Given the description of an element on the screen output the (x, y) to click on. 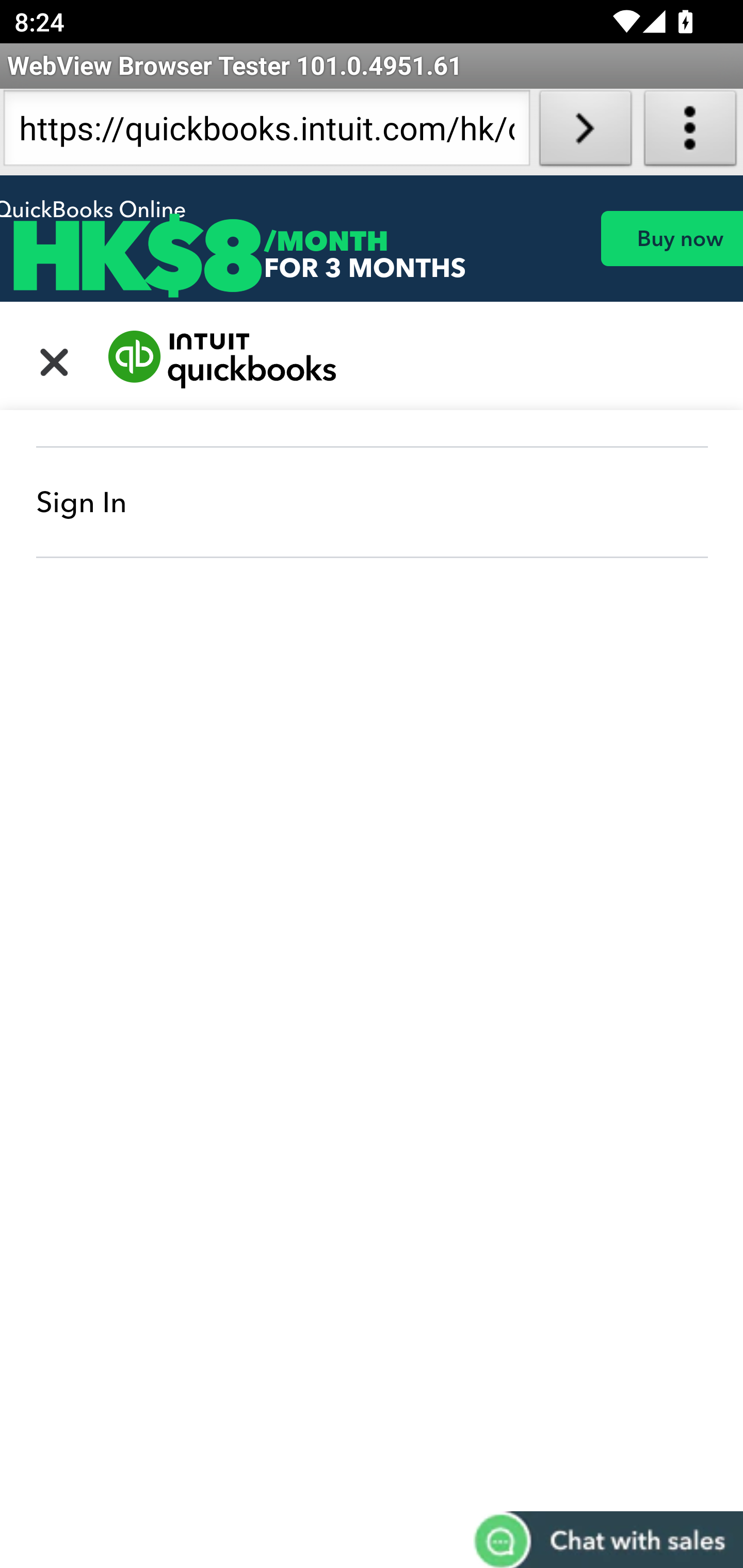
Load URL (585, 132)
About WebView (690, 132)
Buy now (671, 238)
quickbooks-mobile-burger (54, 359)
quickbooks (222, 359)
Sign In (372, 502)
